Given the description of an element on the screen output the (x, y) to click on. 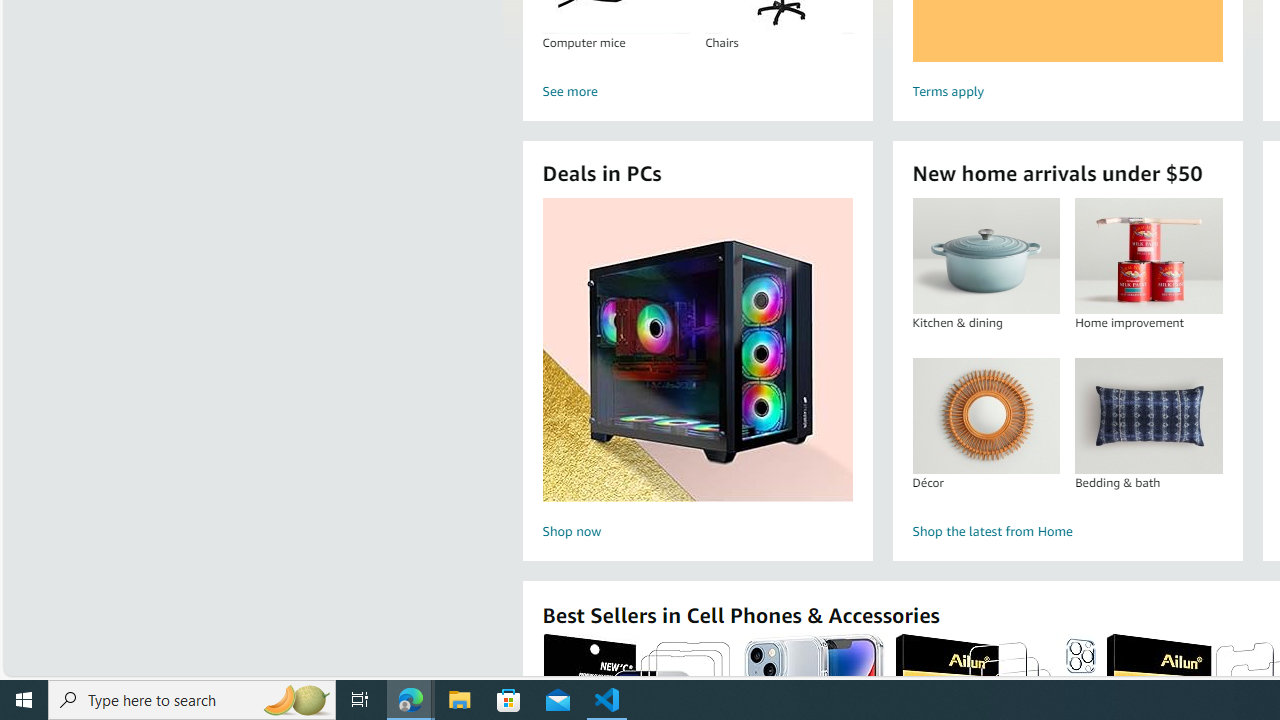
Kitchen & dining (985, 256)
Home improvement (1148, 256)
Kitchen & dining (986, 256)
See more (696, 92)
Home improvement (1148, 256)
Deals in PCs Shop now (697, 371)
Bedding & bath (1148, 415)
Shop the latest from Home (1066, 532)
Bedding & bath (1148, 415)
Deals in PCs (697, 349)
